Given the description of an element on the screen output the (x, y) to click on. 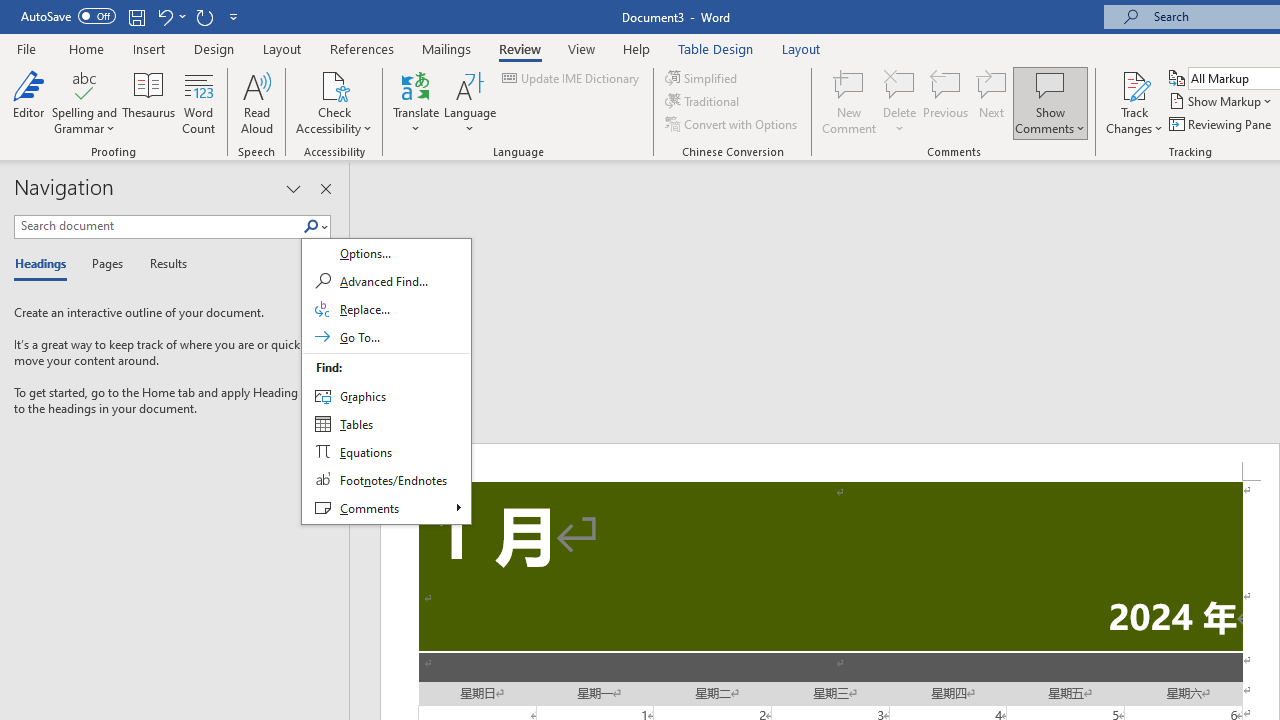
Show Comments (1050, 102)
Undo Increase Indent (170, 15)
New Comment (849, 102)
Delete (900, 102)
Simplified (702, 78)
Reviewing Pane (1221, 124)
Word Count (198, 102)
Check Accessibility (334, 84)
